Given the description of an element on the screen output the (x, y) to click on. 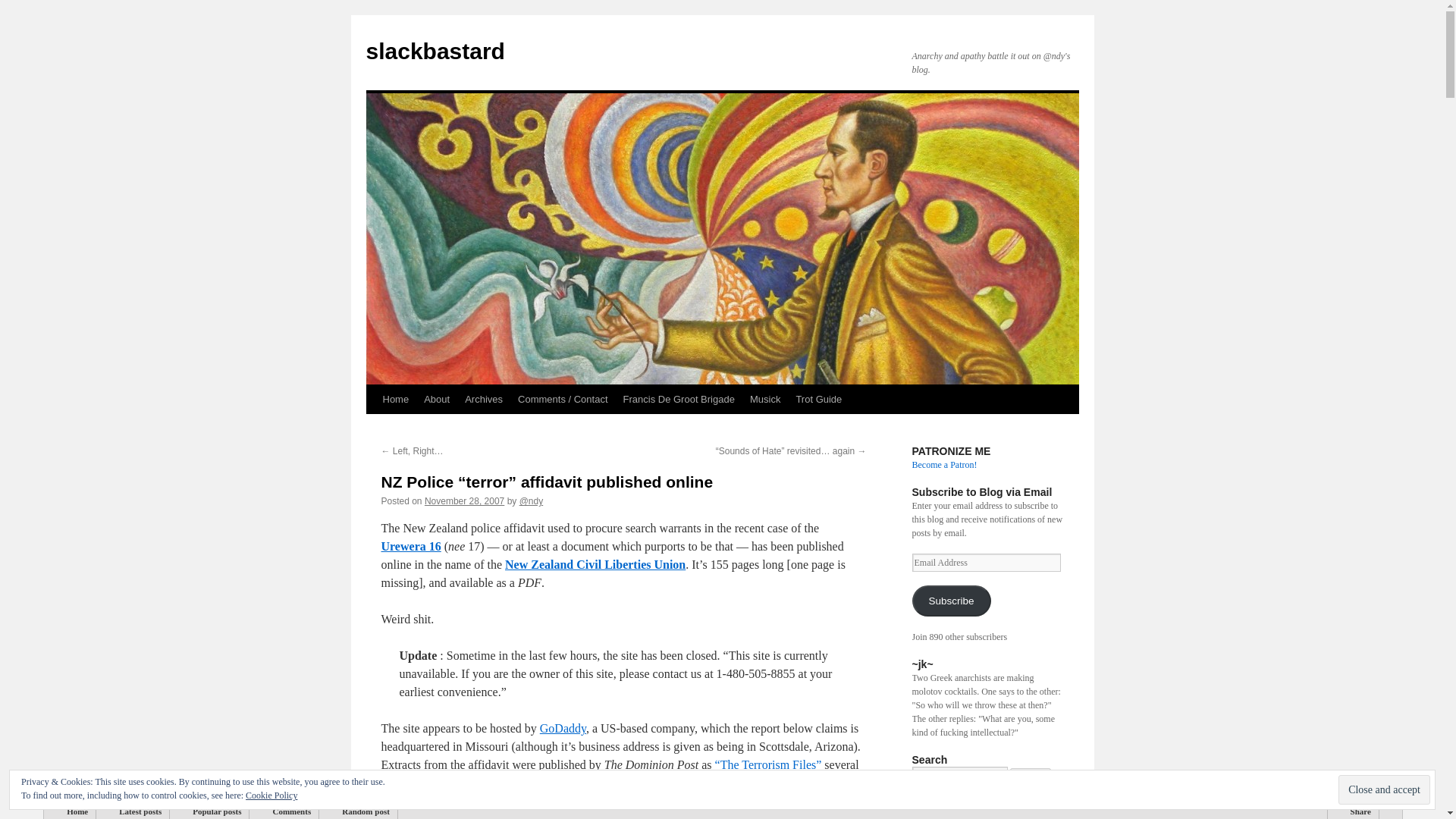
arrests (747, 782)
Trot Guide (817, 399)
Home (395, 399)
GoDaddy (563, 727)
4:25 am (464, 501)
not to proceed with charges (607, 806)
Close and accept (1383, 789)
November 28, 2007 (464, 501)
Urewera 16 (410, 545)
About (436, 399)
Musick (764, 399)
slackbastard (434, 50)
New Zealand Civil Liberties Union (595, 563)
Skip to content (372, 427)
Search (1030, 775)
